Given the description of an element on the screen output the (x, y) to click on. 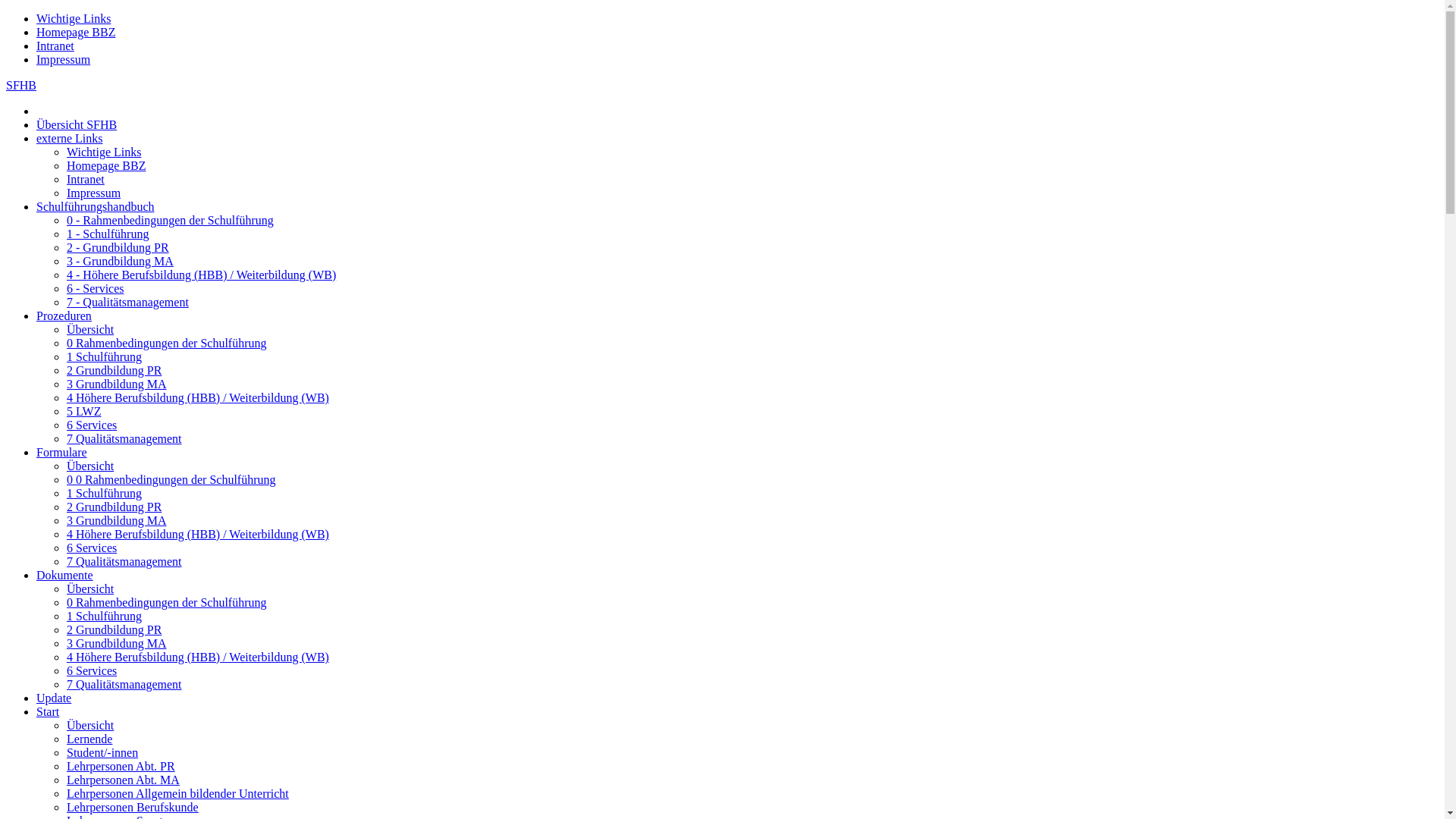
6 - Services Element type: text (95, 288)
SFHB Element type: text (21, 84)
Wichtige Links Element type: text (73, 18)
Lernende Element type: text (89, 738)
Update Element type: text (53, 697)
3 - Grundbildung MA Element type: text (119, 260)
externe Links Element type: text (69, 137)
Lehrpersonen Abt. PR Element type: text (120, 765)
2 - Grundbildung PR Element type: text (117, 247)
6 Services Element type: text (91, 670)
Intranet Element type: text (55, 45)
Intranet Element type: text (85, 178)
2 Grundbildung PR Element type: text (113, 370)
2 Grundbildung PR Element type: text (113, 629)
Prozeduren Element type: text (63, 315)
6 Services Element type: text (91, 547)
6 Services Element type: text (91, 424)
Student/-innen Element type: text (102, 752)
Start Element type: text (47, 711)
Homepage BBZ Element type: text (75, 31)
Lehrpersonen Allgemein bildender Unterricht Element type: text (177, 793)
Dokumente Element type: text (64, 574)
Impressum Element type: text (63, 59)
5 LWZ Element type: text (83, 410)
Wichtige Links Element type: text (103, 151)
Lehrpersonen Berufskunde Element type: text (132, 806)
2 Grundbildung PR Element type: text (113, 506)
3 Grundbildung MA Element type: text (116, 520)
Impressum Element type: text (93, 192)
3 Grundbildung MA Element type: text (116, 643)
Lehrpersonen Abt. MA Element type: text (122, 779)
3 Grundbildung MA Element type: text (116, 383)
Formulare Element type: text (61, 451)
Homepage BBZ Element type: text (105, 165)
